Given the description of an element on the screen output the (x, y) to click on. 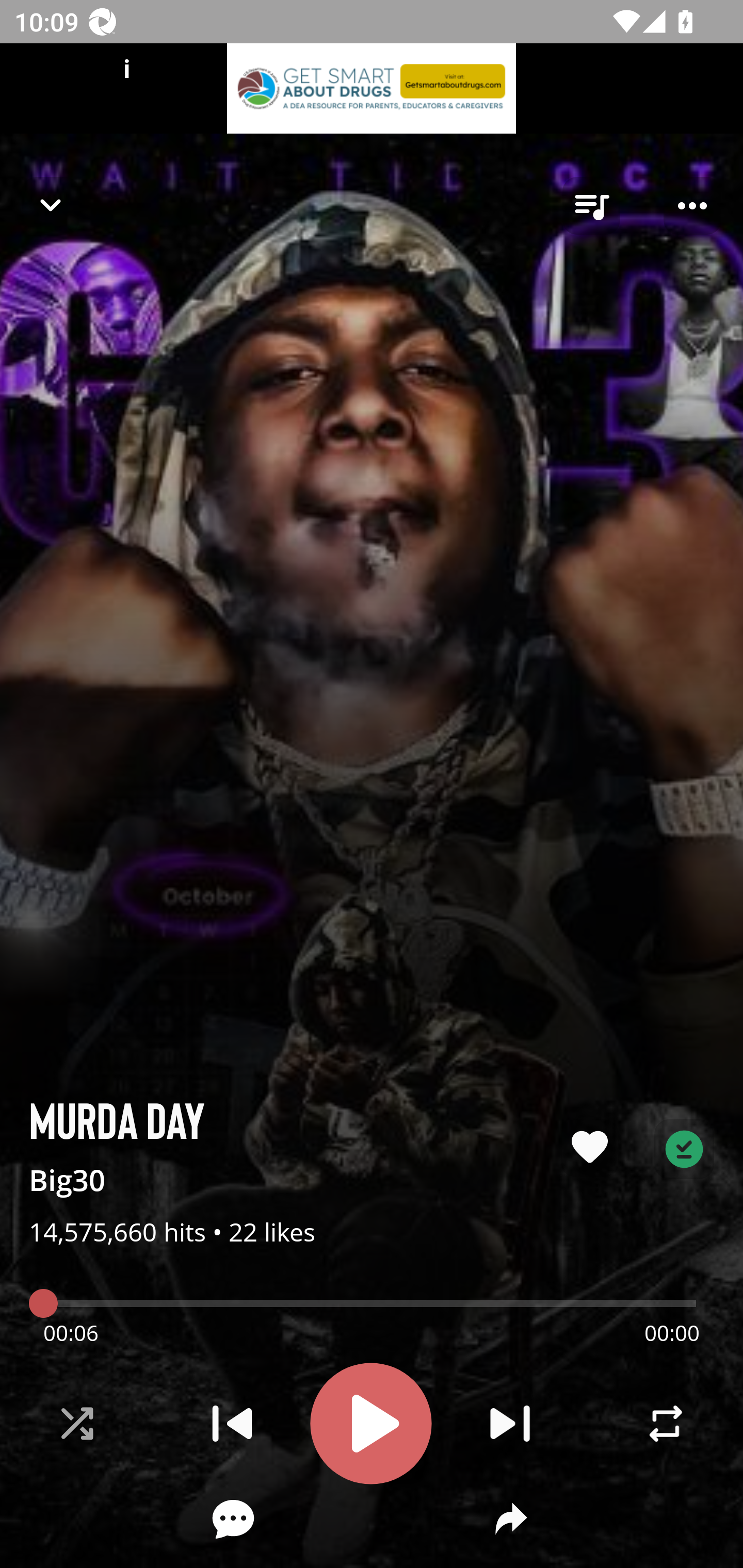
Navigate up (50, 205)
queue (590, 206)
Player options (692, 206)
